Given the description of an element on the screen output the (x, y) to click on. 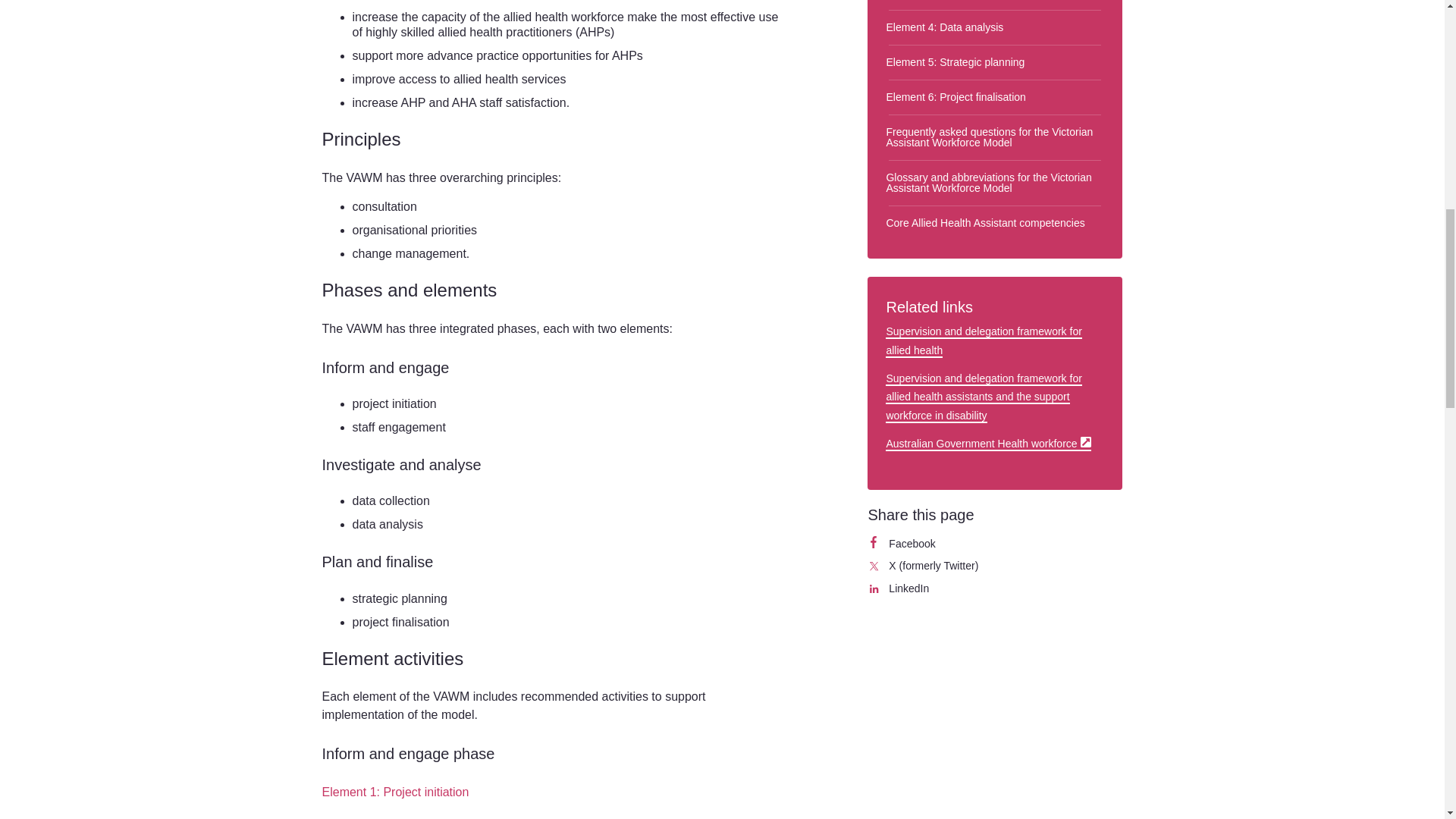
Supervision and delegation framework for allied health (983, 340)
Element 3: Data collection (994, 4)
External Link (1085, 441)
Core Allied Health Assistant competencies (994, 222)
Element 5: Strategic planning (994, 62)
Element 1: Project initiation (994, 543)
Australian Government Health workforceExternal Link (394, 791)
Element 4: Data analysis (987, 442)
Element 6: Project finalisation (994, 27)
